Given the description of an element on the screen output the (x, y) to click on. 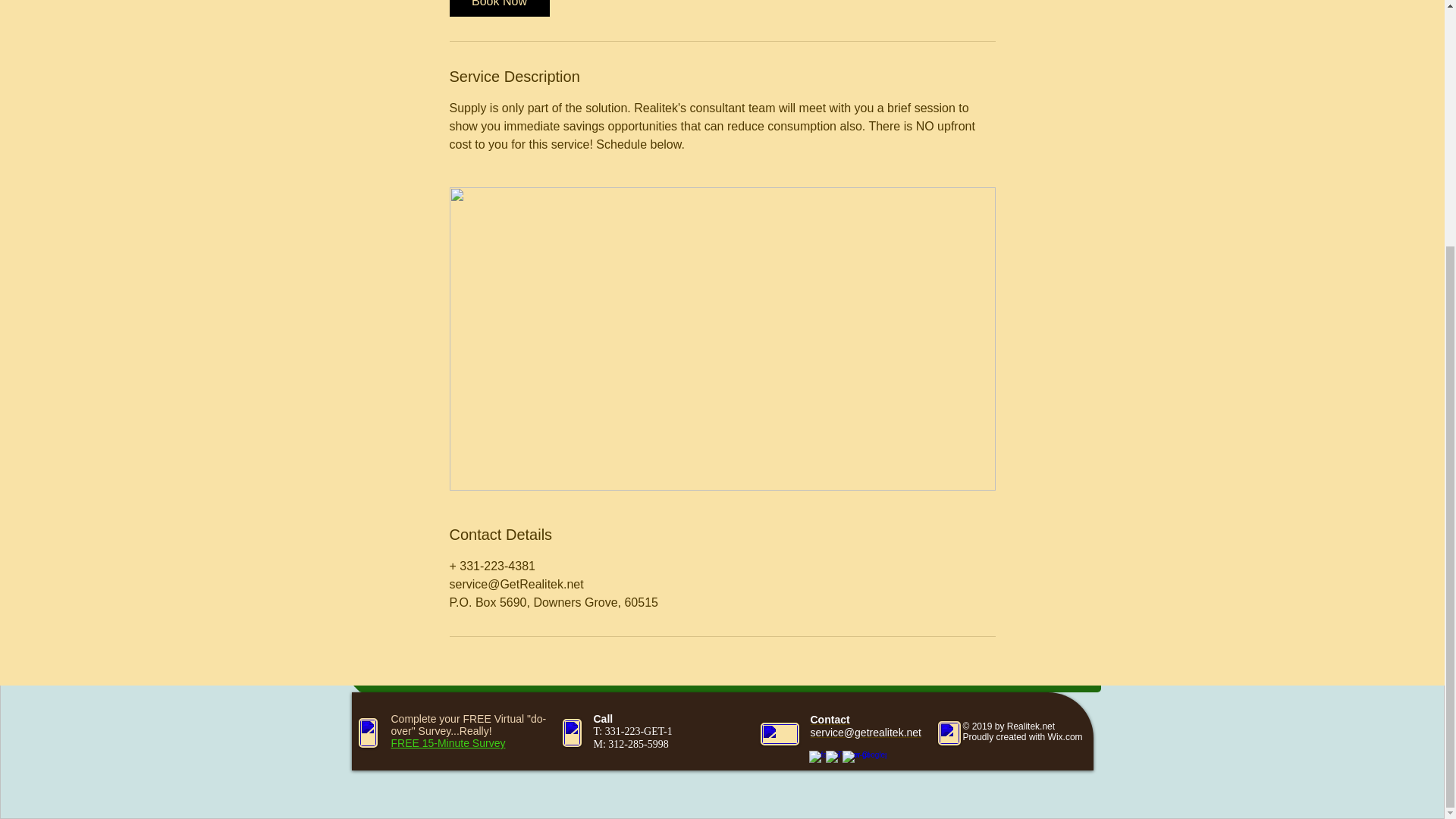
Book Now (498, 8)
Wix.com (1065, 737)
FREE 15-Minute Survey (448, 743)
Contact (828, 719)
